Given the description of an element on the screen output the (x, y) to click on. 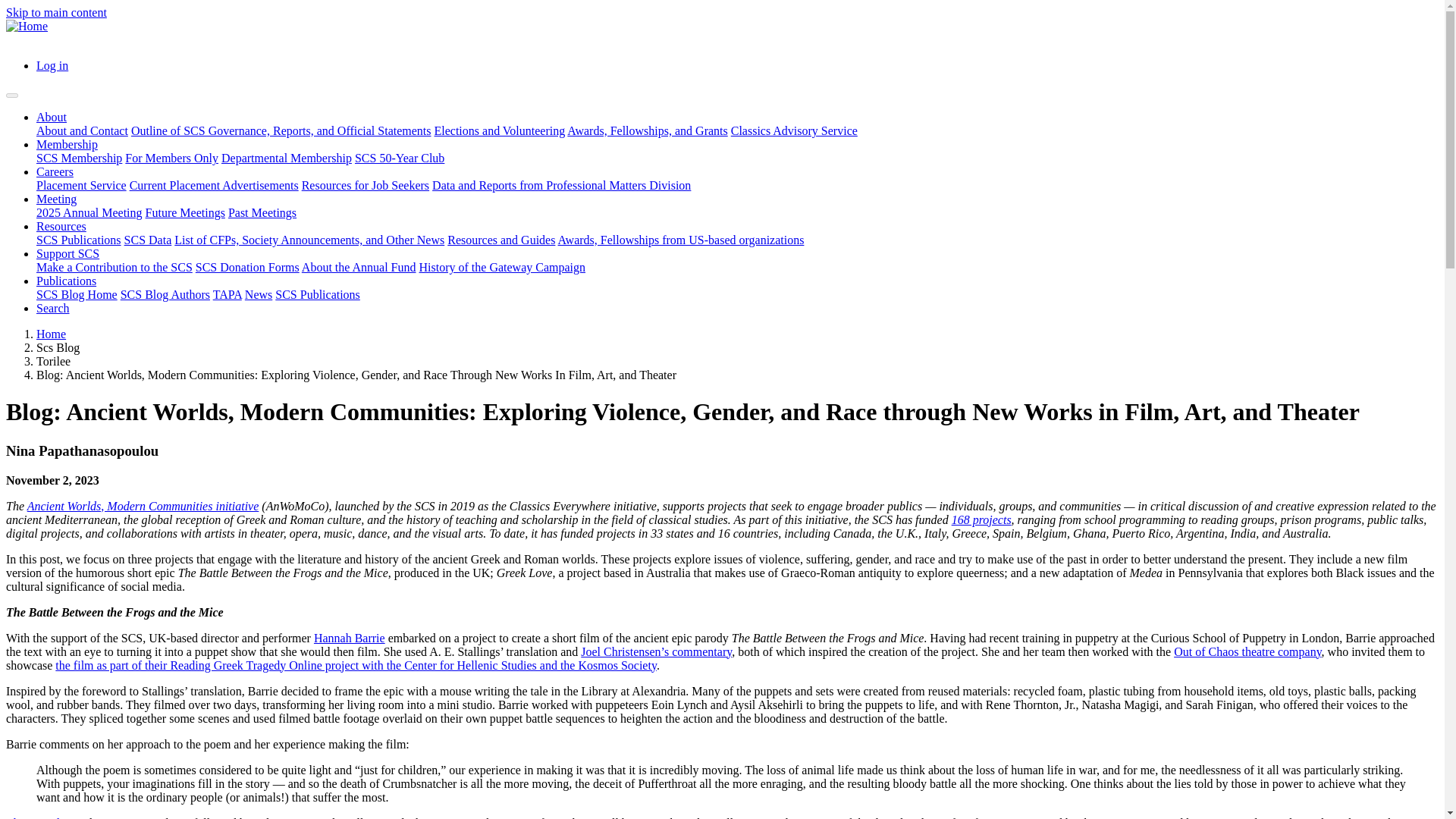
Resources (60, 226)
Awards, Fellowships, and Grants (646, 130)
SCS Solr Search Page (52, 308)
History of the Gateway Campaign (502, 267)
SCS Donation Forms (247, 267)
Current Placement Advertisements (213, 185)
SCS Blog Home (76, 294)
SCS Membership (79, 157)
SCS Blog Authors (164, 294)
News (258, 294)
